Given the description of an element on the screen output the (x, y) to click on. 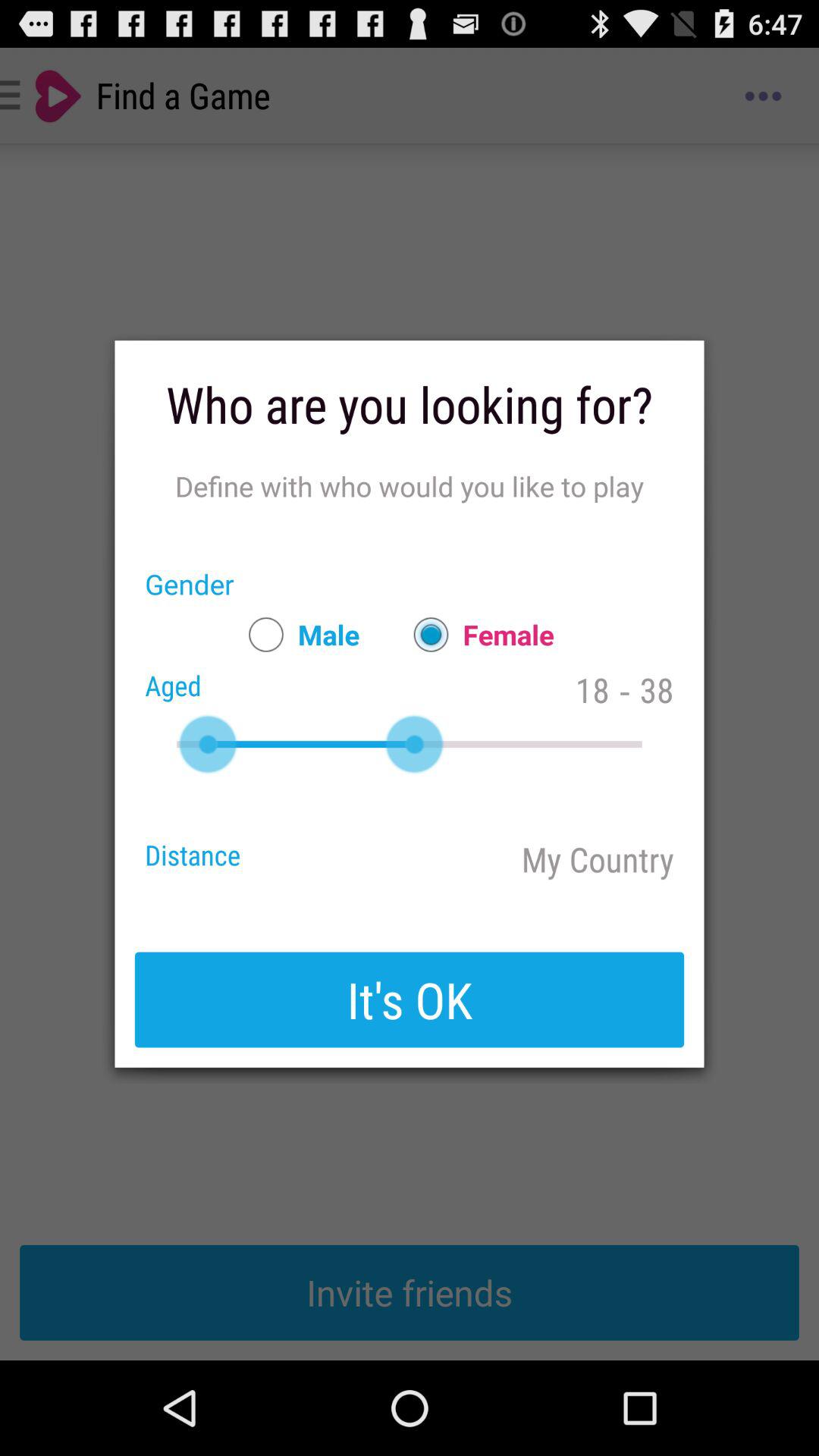
launch item to the right of gender icon (296, 634)
